Given the description of an element on the screen output the (x, y) to click on. 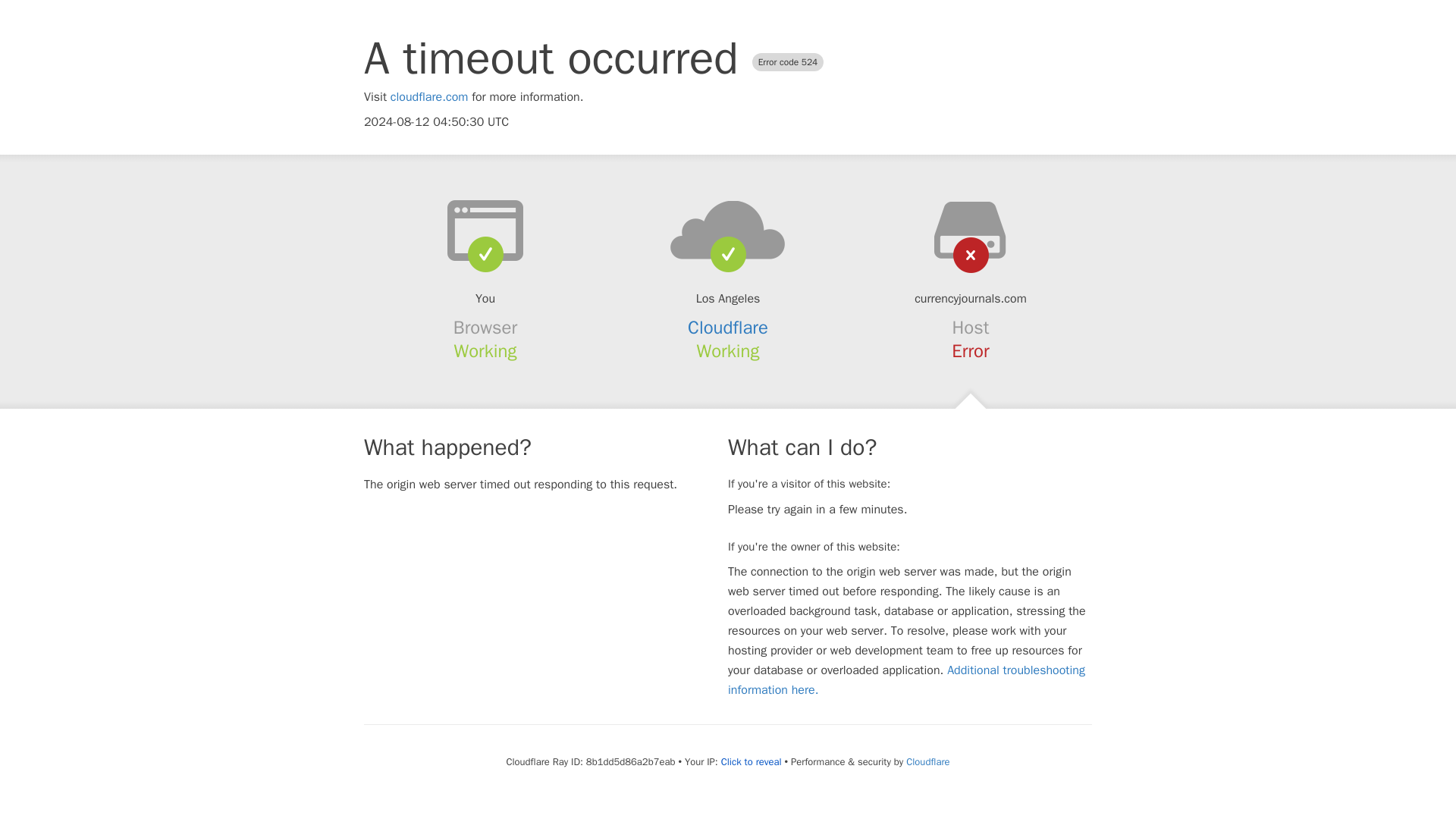
Cloudflare (927, 761)
Click to reveal (750, 762)
Additional troubleshooting information here. (906, 679)
cloudflare.com (429, 96)
Cloudflare (727, 327)
